Given the description of an element on the screen output the (x, y) to click on. 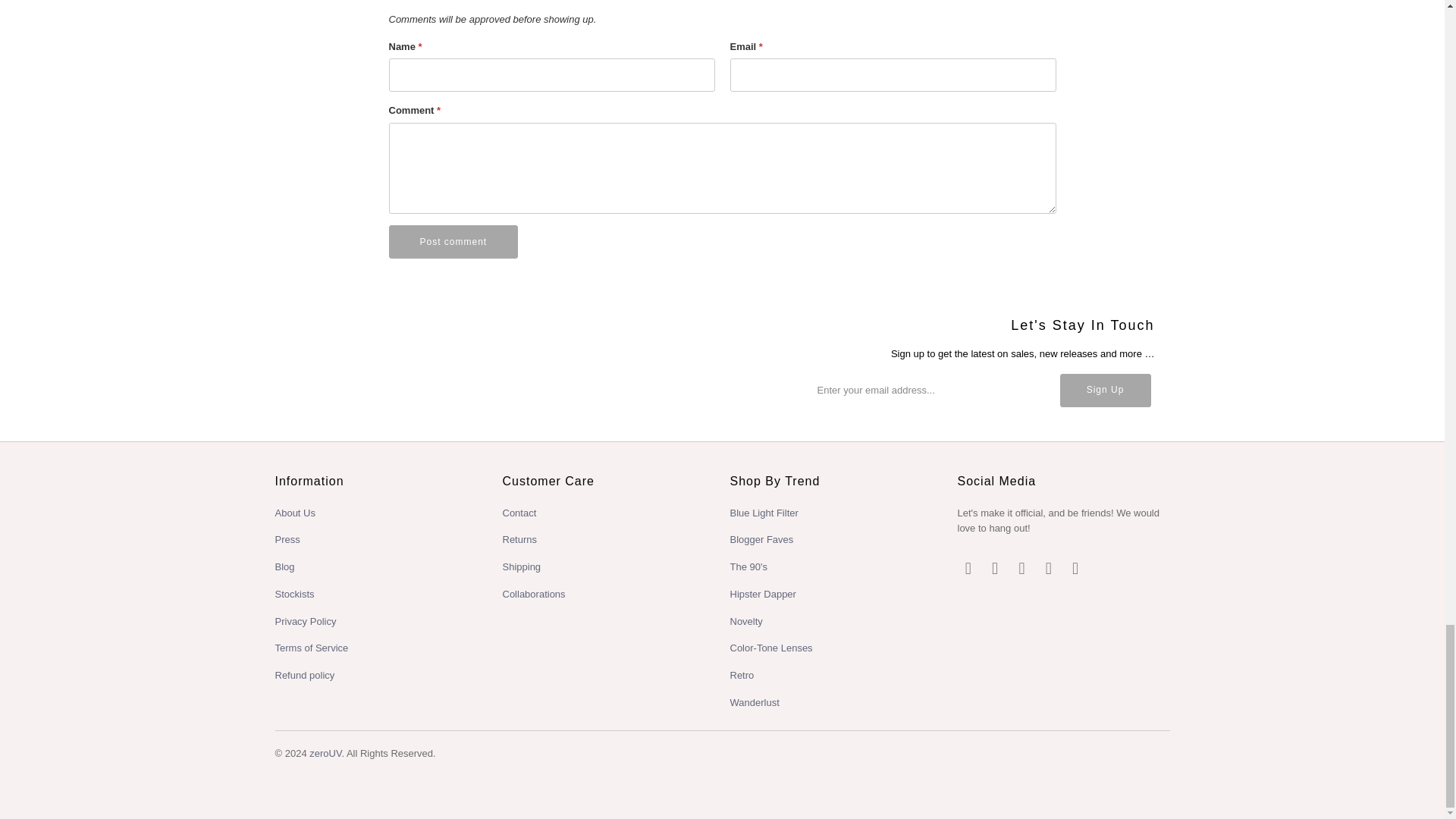
Post comment (453, 241)
zeroUV on Twitter (967, 568)
Sign Up (1105, 390)
